Given the description of an element on the screen output the (x, y) to click on. 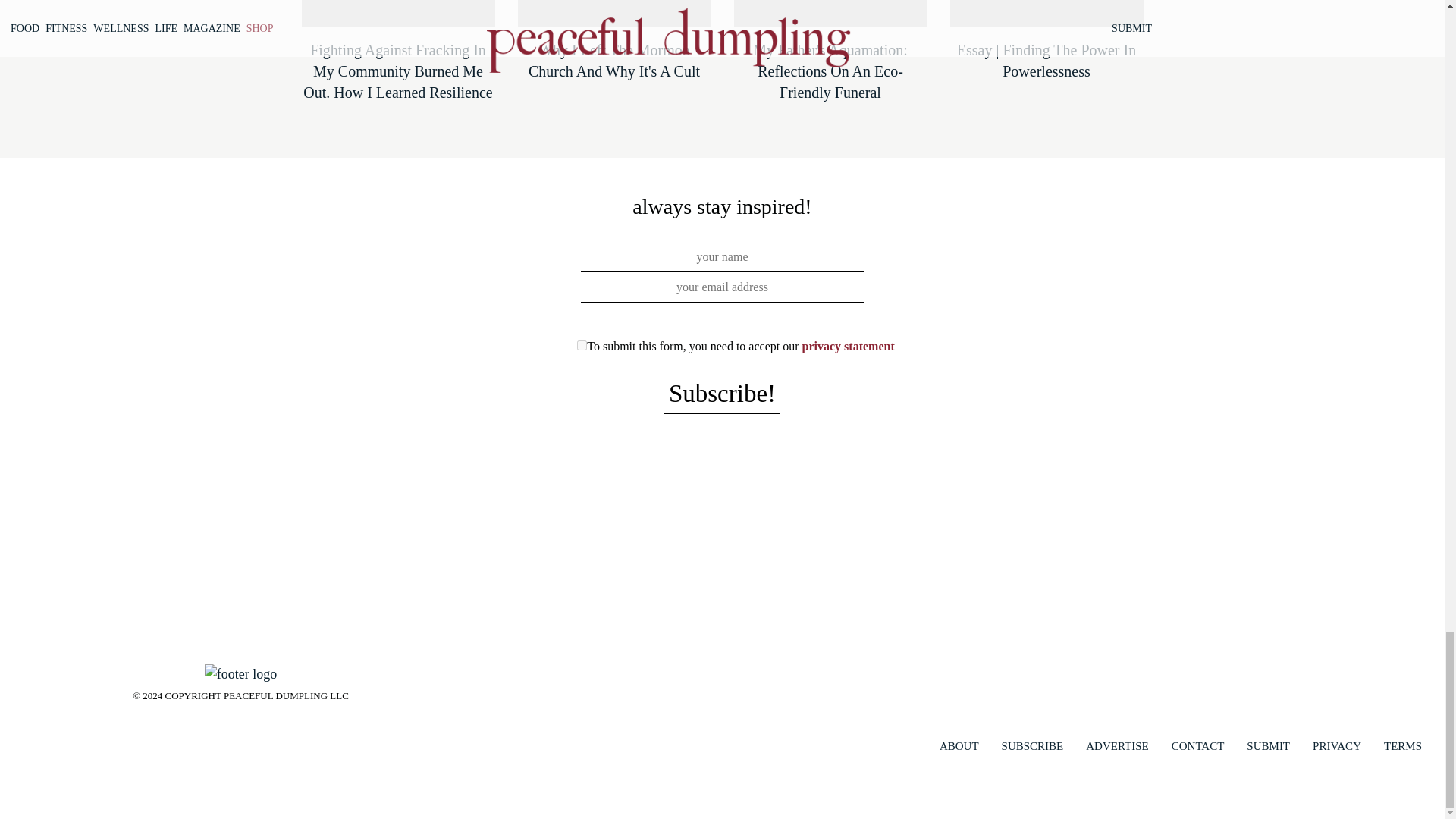
Peaceful Dumpling (240, 672)
1 (581, 345)
Subscribe! (721, 394)
